Given the description of an element on the screen output the (x, y) to click on. 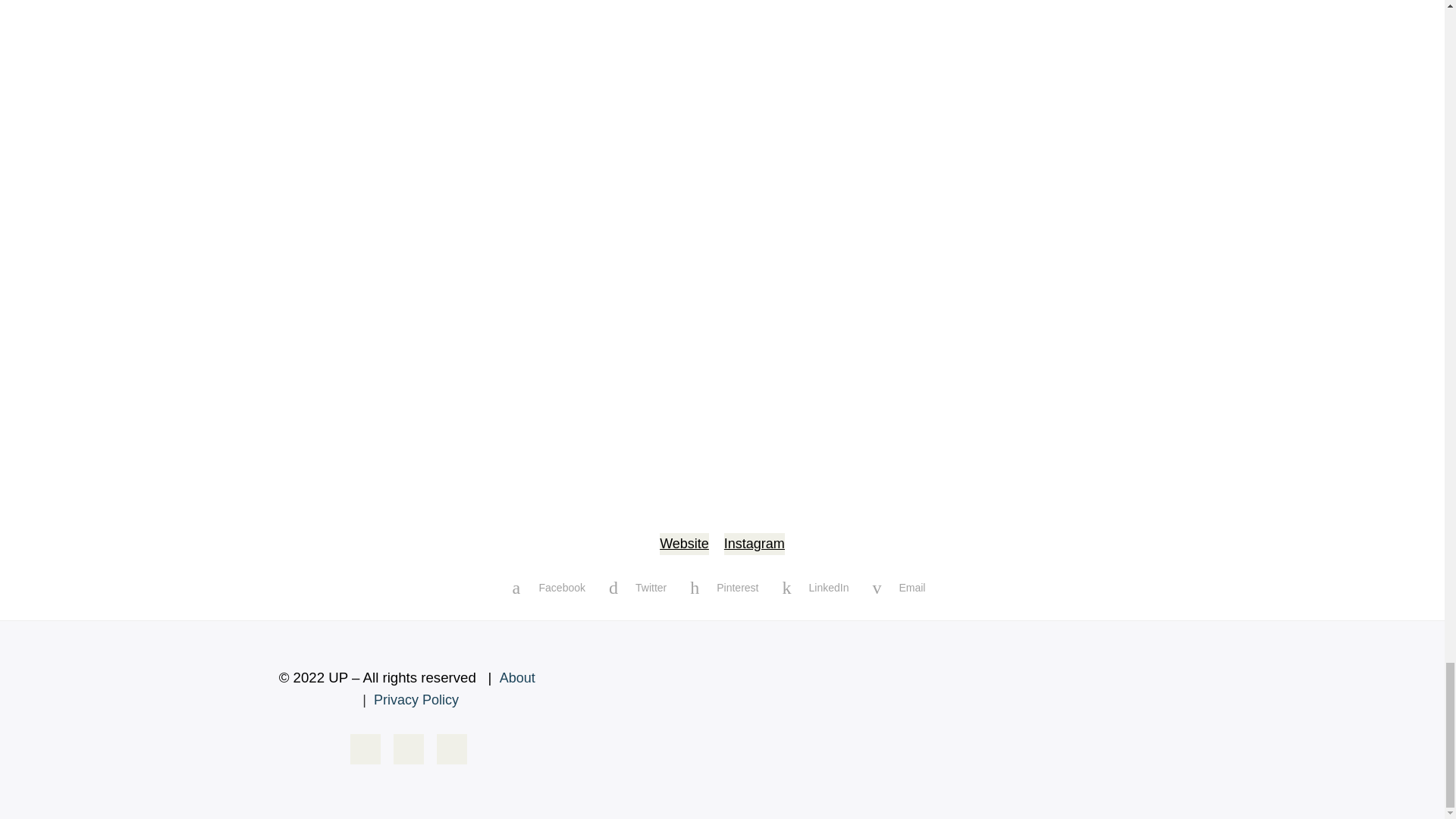
LinkedIn (816, 587)
Facebook (549, 587)
Privacy Policy (416, 699)
Email (899, 587)
Instagram (753, 544)
Twitter (638, 587)
Share on LinkedIn (816, 587)
Pinterest (725, 587)
Share on Email (899, 587)
Share on Pinterest (725, 587)
Share on Twitter (638, 587)
Share on Facebook (549, 587)
About (517, 677)
Website (684, 544)
